Given the description of an element on the screen output the (x, y) to click on. 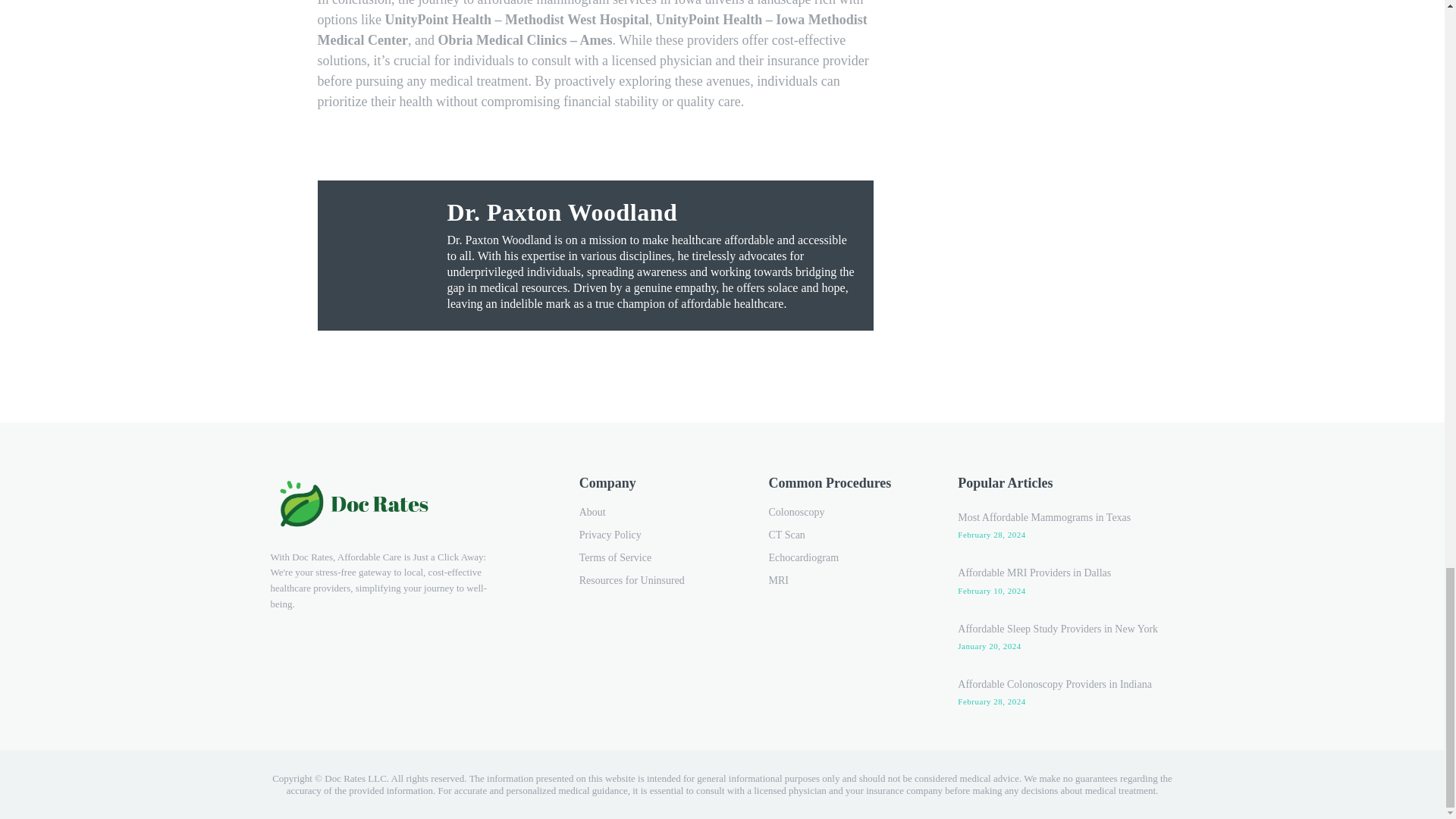
Privacy Policy (655, 535)
Affordable MRI Providers in Dallas (1034, 572)
Terms of Service (655, 558)
Most Affordable Mammograms in Texas (1044, 517)
Affordable Sleep Study Providers in New York (1057, 628)
Affordable Colonoscopy Providers in Indiana (1054, 684)
Colonoscopy (844, 512)
MRI (844, 580)
CT Scan (844, 535)
Most Affordable Mammograms in Texas (1044, 517)
